Given the description of an element on the screen output the (x, y) to click on. 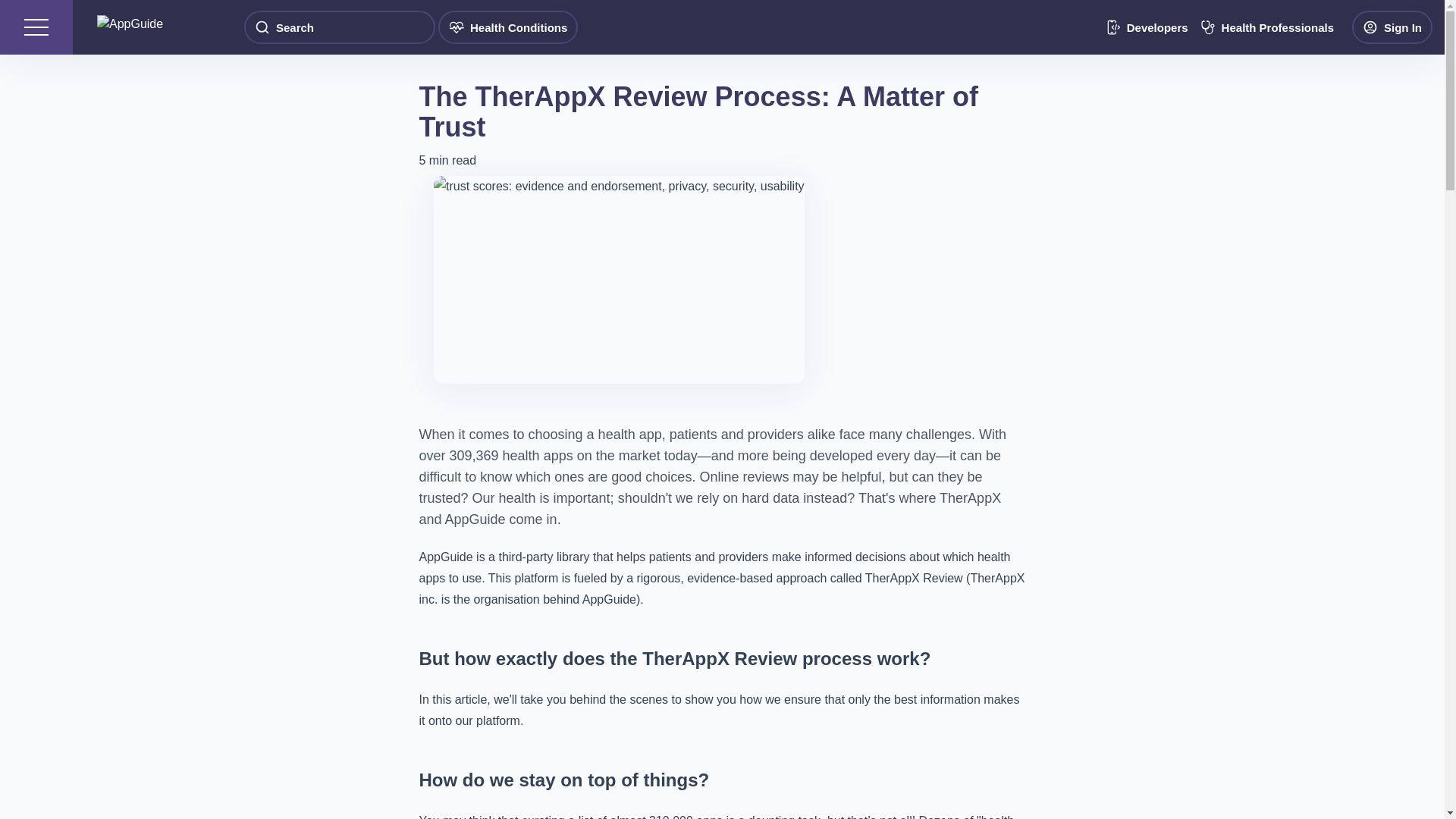
Health Conditions (508, 27)
Search (339, 27)
Health Professionals (1266, 27)
Sign In (1392, 27)
Developers (1146, 27)
